Given the description of an element on the screen output the (x, y) to click on. 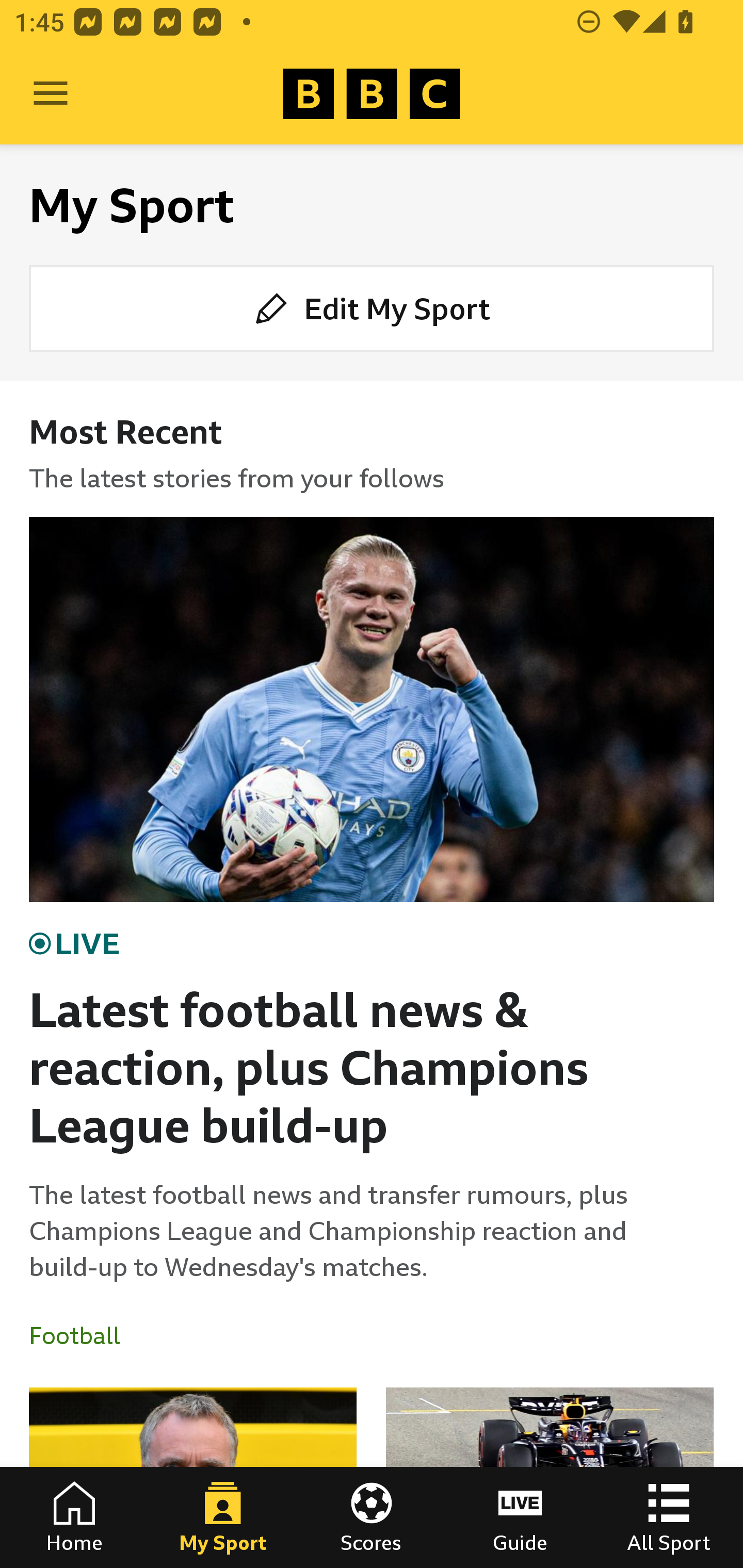
Open Menu (50, 93)
Edit My Sport (371, 307)
Home (74, 1517)
Scores (371, 1517)
Guide (519, 1517)
All Sport (668, 1517)
